Given the description of an element on the screen output the (x, y) to click on. 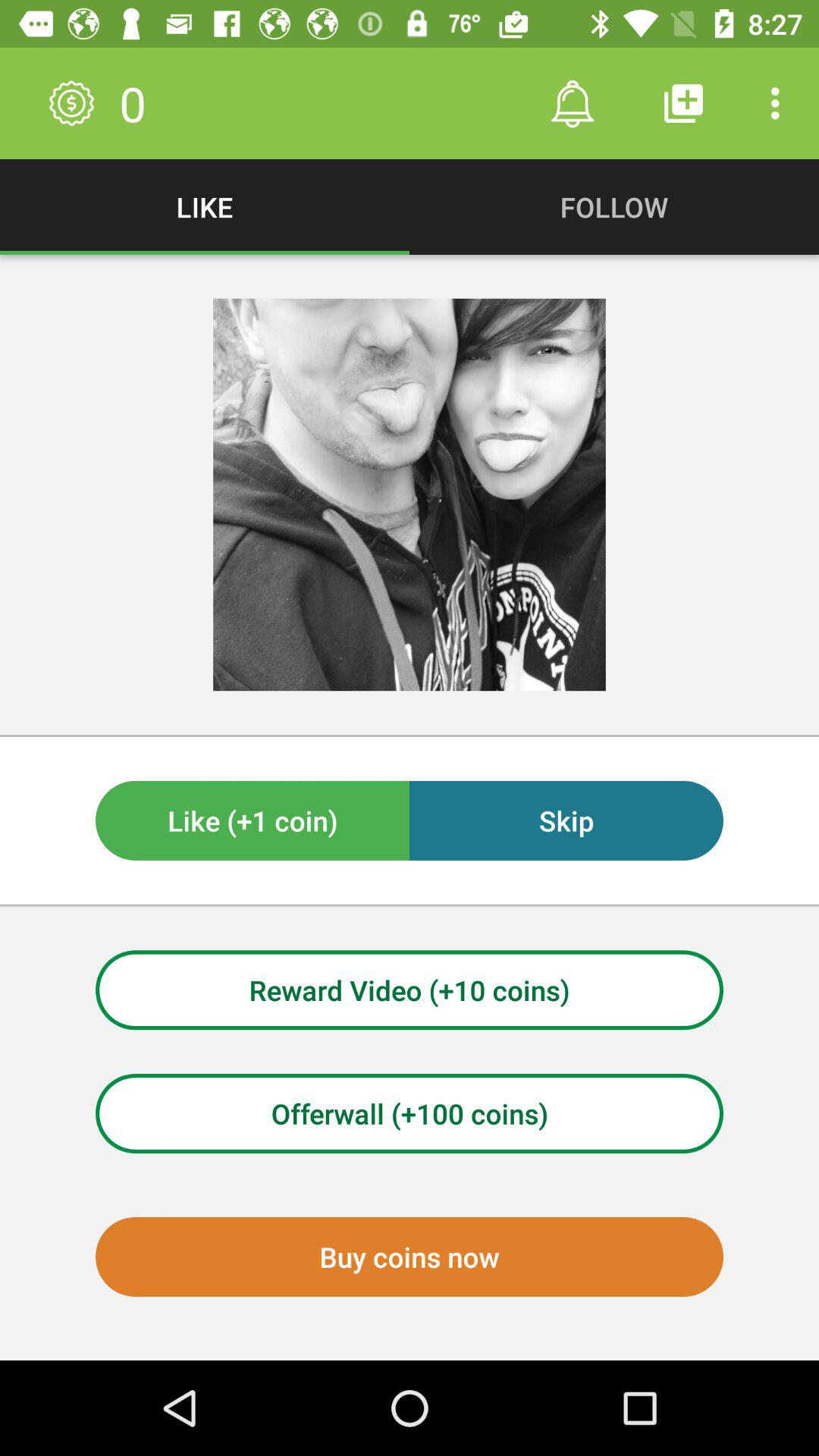
select the icon next to like (+1 coin) item (566, 820)
